Given the description of an element on the screen output the (x, y) to click on. 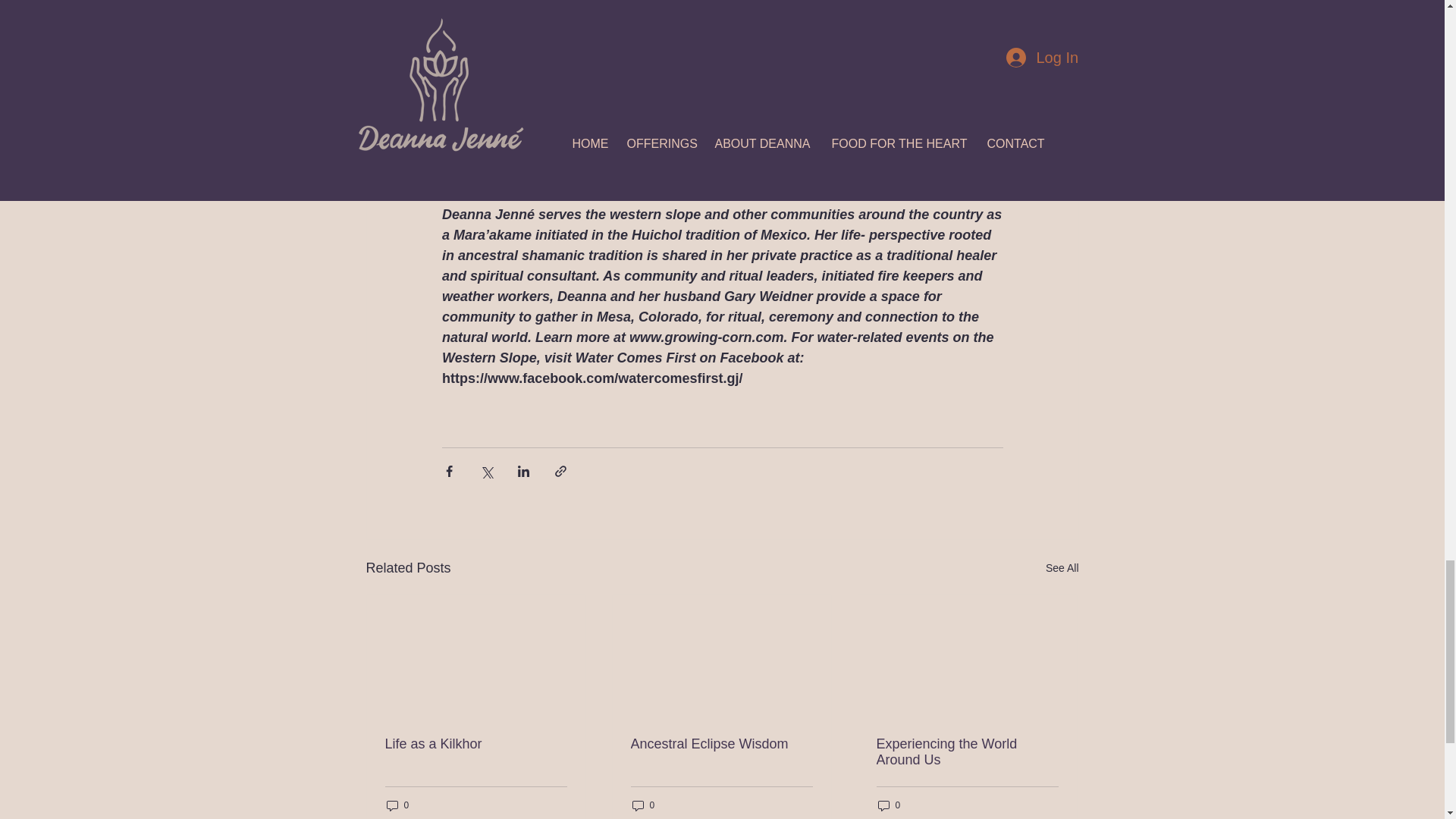
0 (397, 804)
Life as a Kilkhor (476, 744)
0 (643, 804)
Experiencing the World Around Us (967, 752)
Ancestral Eclipse Wisdom (721, 744)
0 (889, 804)
See All (1061, 568)
